Given the description of an element on the screen output the (x, y) to click on. 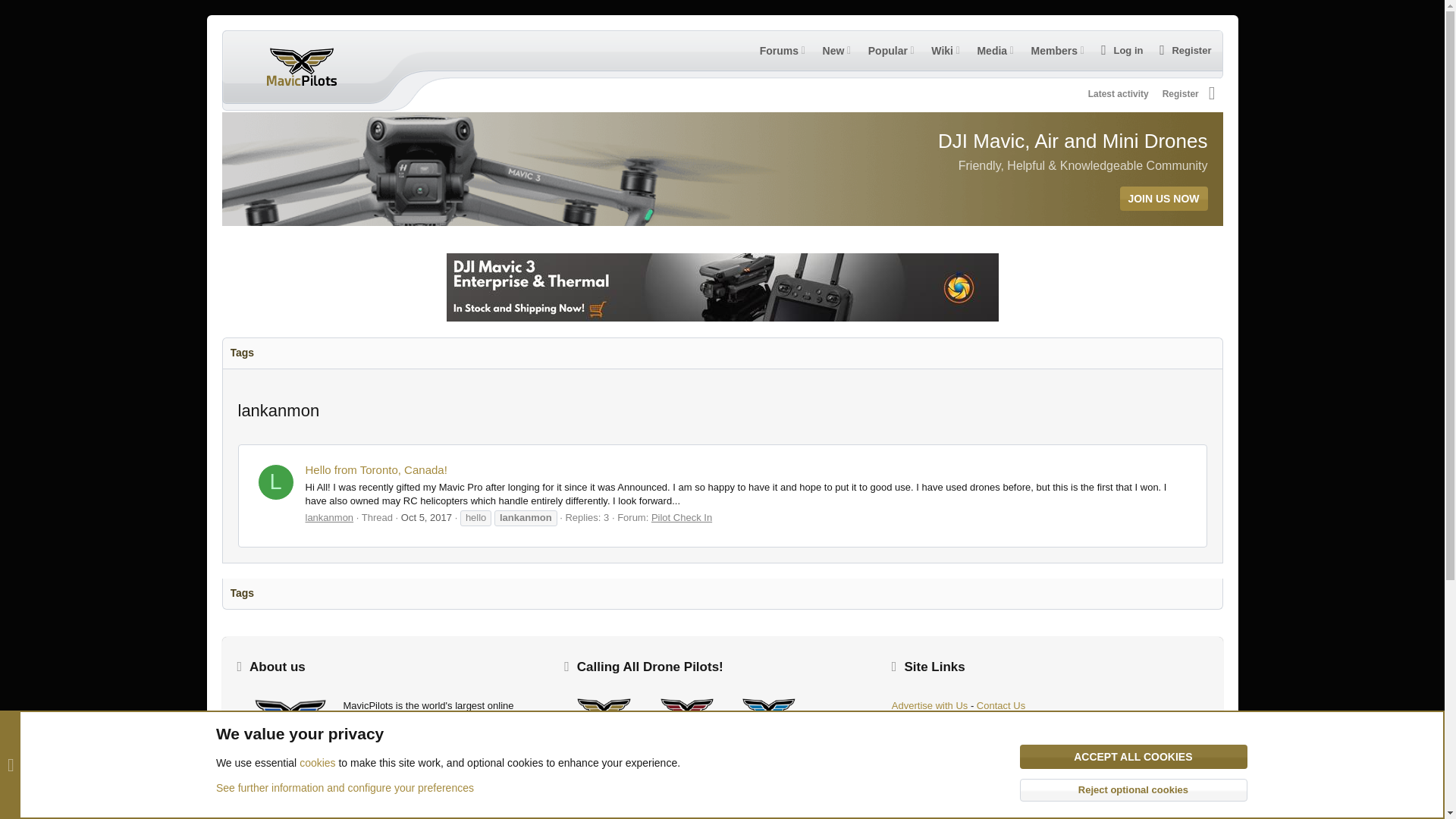
Media (989, 50)
Wiki (938, 50)
Skydio Community (686, 797)
Commercial Drone Pilots (686, 755)
AutelPilots Drone Community (768, 755)
Popular (884, 50)
New (830, 50)
Parrot Pilots (768, 796)
Register (919, 67)
